Given the description of an element on the screen output the (x, y) to click on. 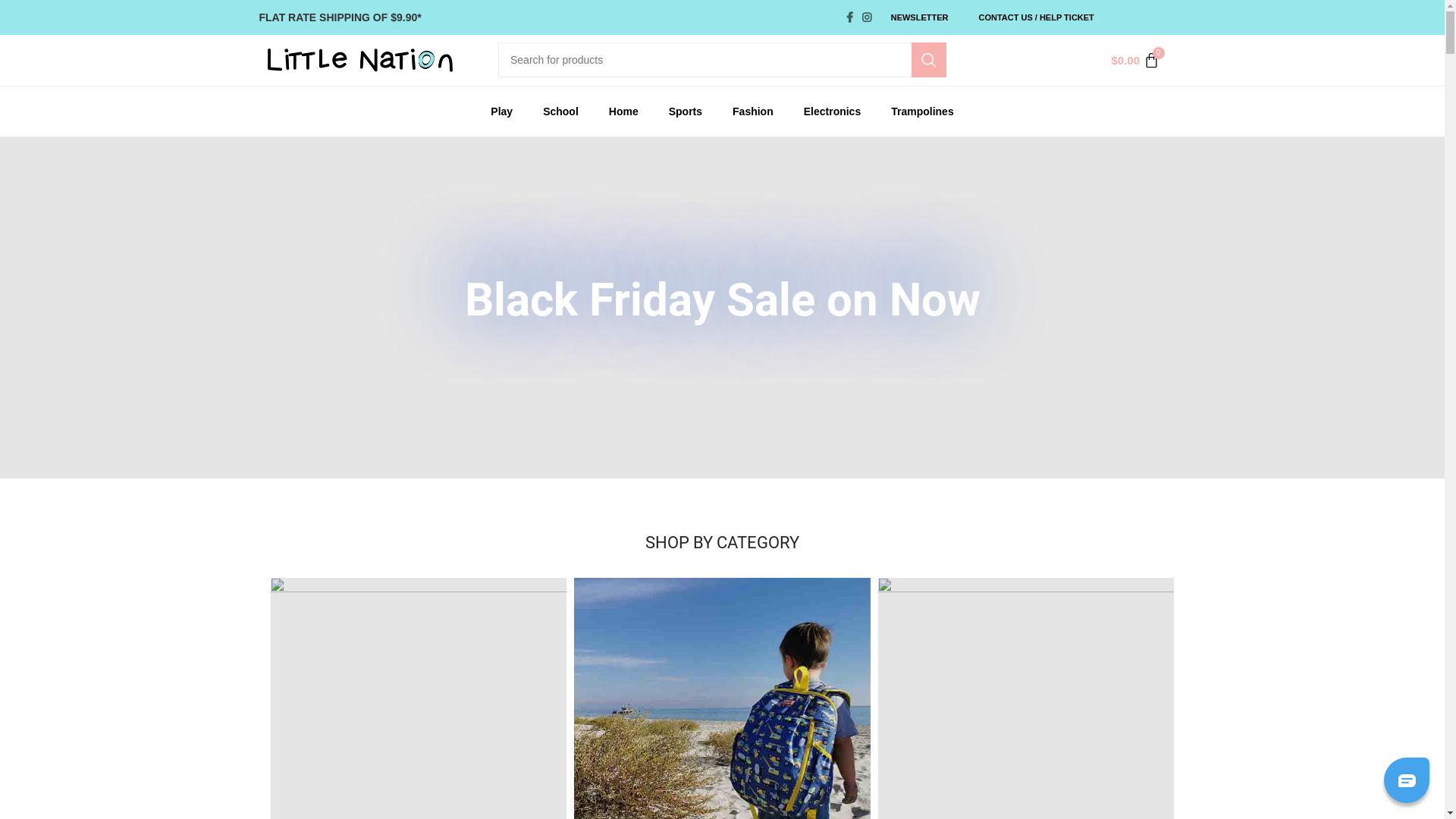
School Element type: text (560, 111)
Play Element type: text (501, 111)
$0.00
0 Element type: text (1134, 60)
NEWSLETTER Element type: text (919, 17)
Search for products Element type: hover (722, 59)
Chat Element type: hover (1406, 778)
Trampolines Element type: text (921, 111)
Fashion Element type: text (752, 111)
Electronics Element type: text (831, 111)
Home Element type: text (623, 111)
SEARCH Element type: text (928, 59)
Sports Element type: text (685, 111)
CONTACT US / HELP TICKET Element type: text (1035, 17)
